Given the description of an element on the screen output the (x, y) to click on. 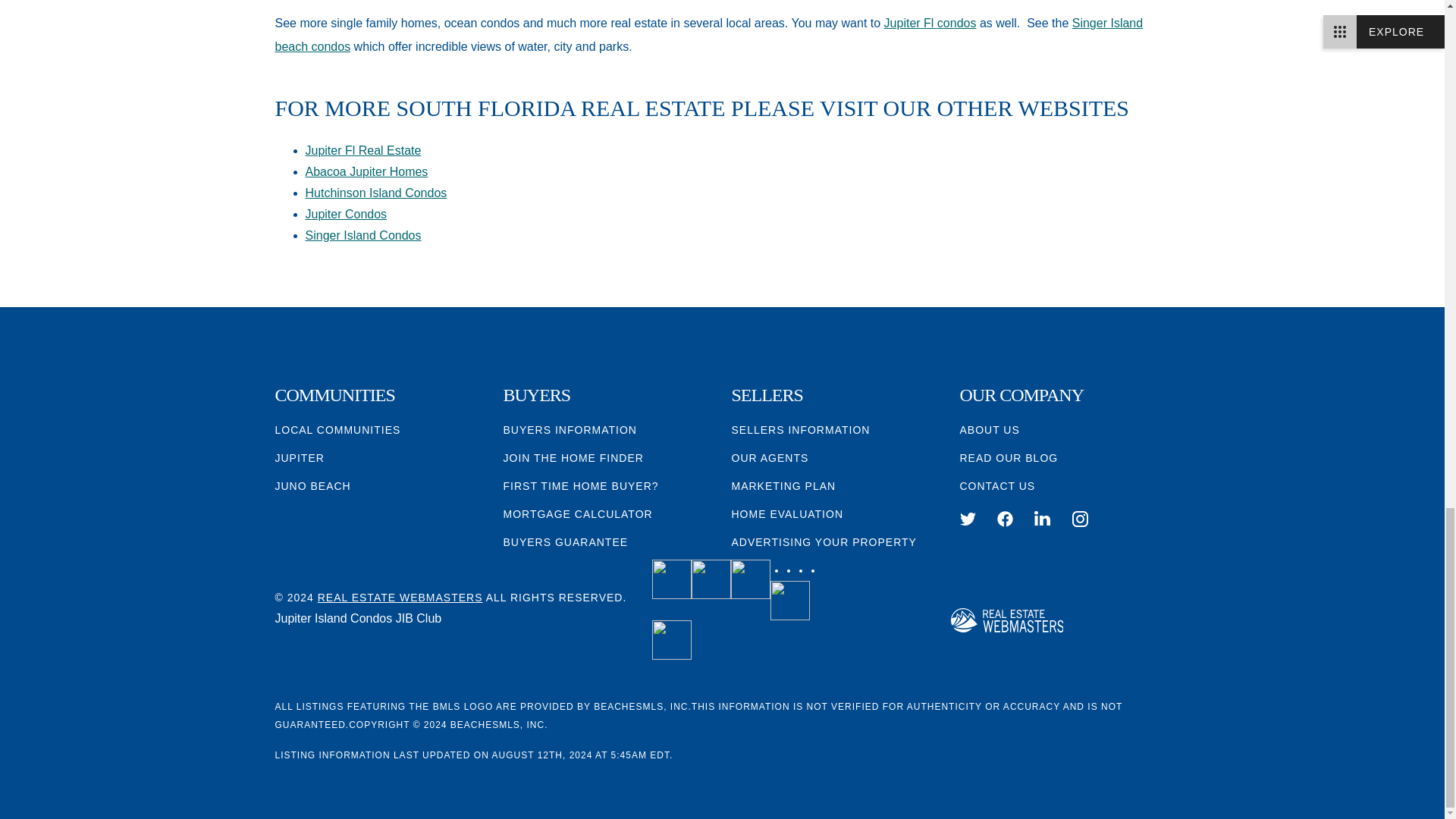
Jupiter Condos (929, 22)
TWITTER (967, 519)
Jupiter Real Estate for sale (362, 150)
LINKEDIN (1041, 519)
Hutchinson Island Condos  (375, 192)
Abacoa Homes Jupiter (366, 171)
Jupiter Condos (345, 214)
Singer Island Condos (362, 235)
Singer Island Condos (708, 34)
FACEBOOK (1005, 519)
